Given the description of an element on the screen output the (x, y) to click on. 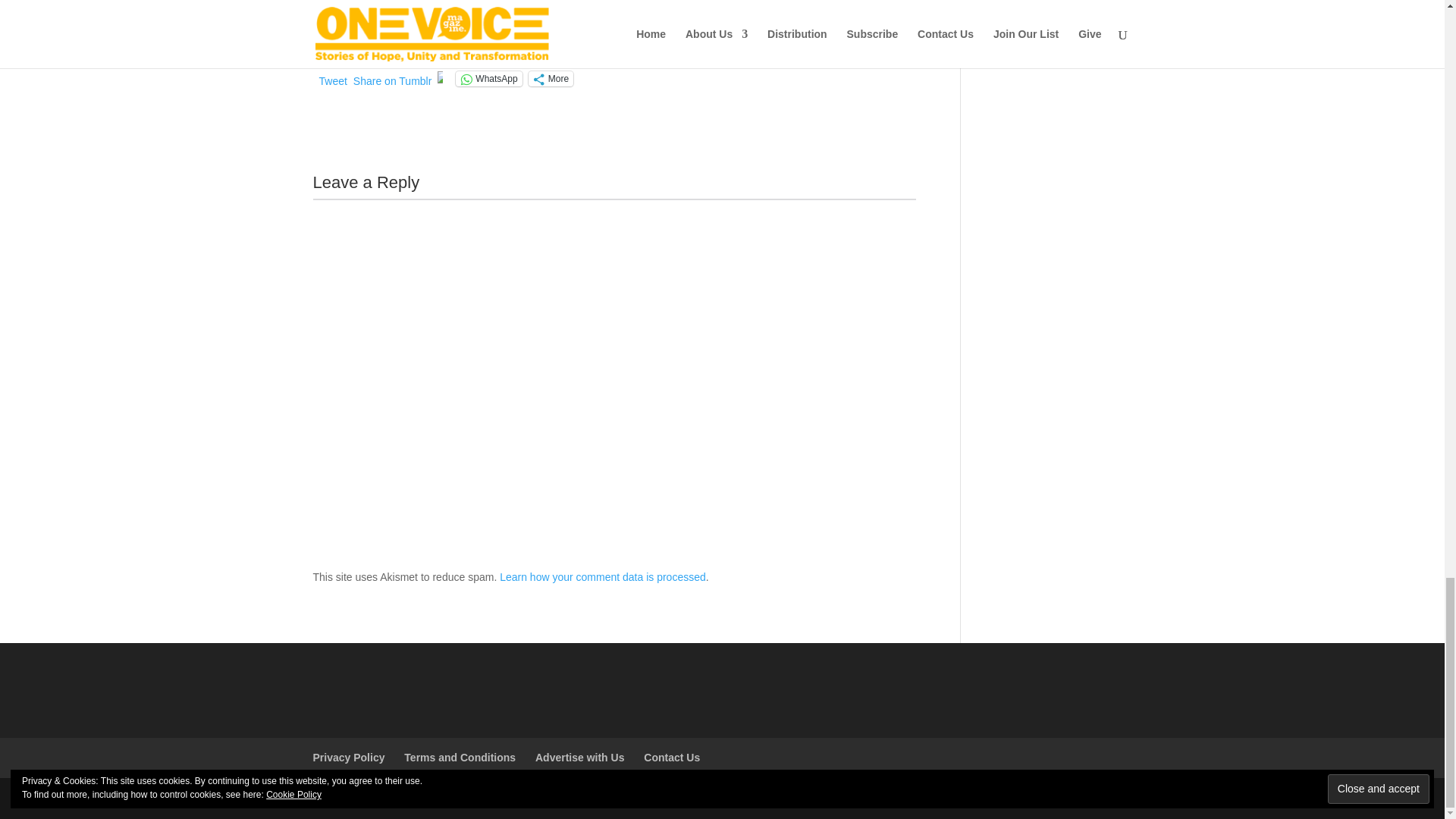
Share on Tumblr (392, 78)
Tweet (332, 78)
Learn how your comment data is processed (602, 576)
Click to share on WhatsApp (488, 78)
WhatsApp (488, 78)
Share on Tumblr (392, 78)
More (550, 78)
